Given the description of an element on the screen output the (x, y) to click on. 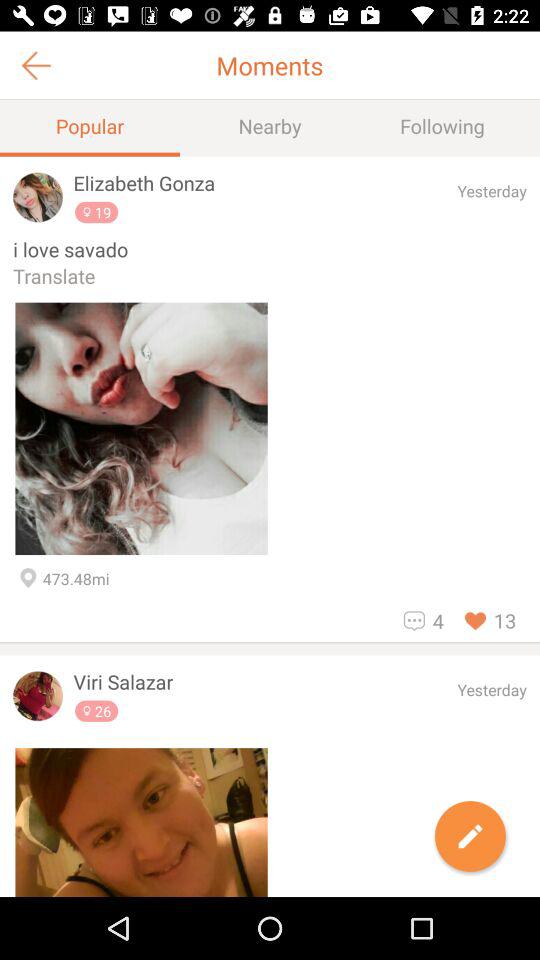
go to profile (141, 822)
